Given the description of an element on the screen output the (x, y) to click on. 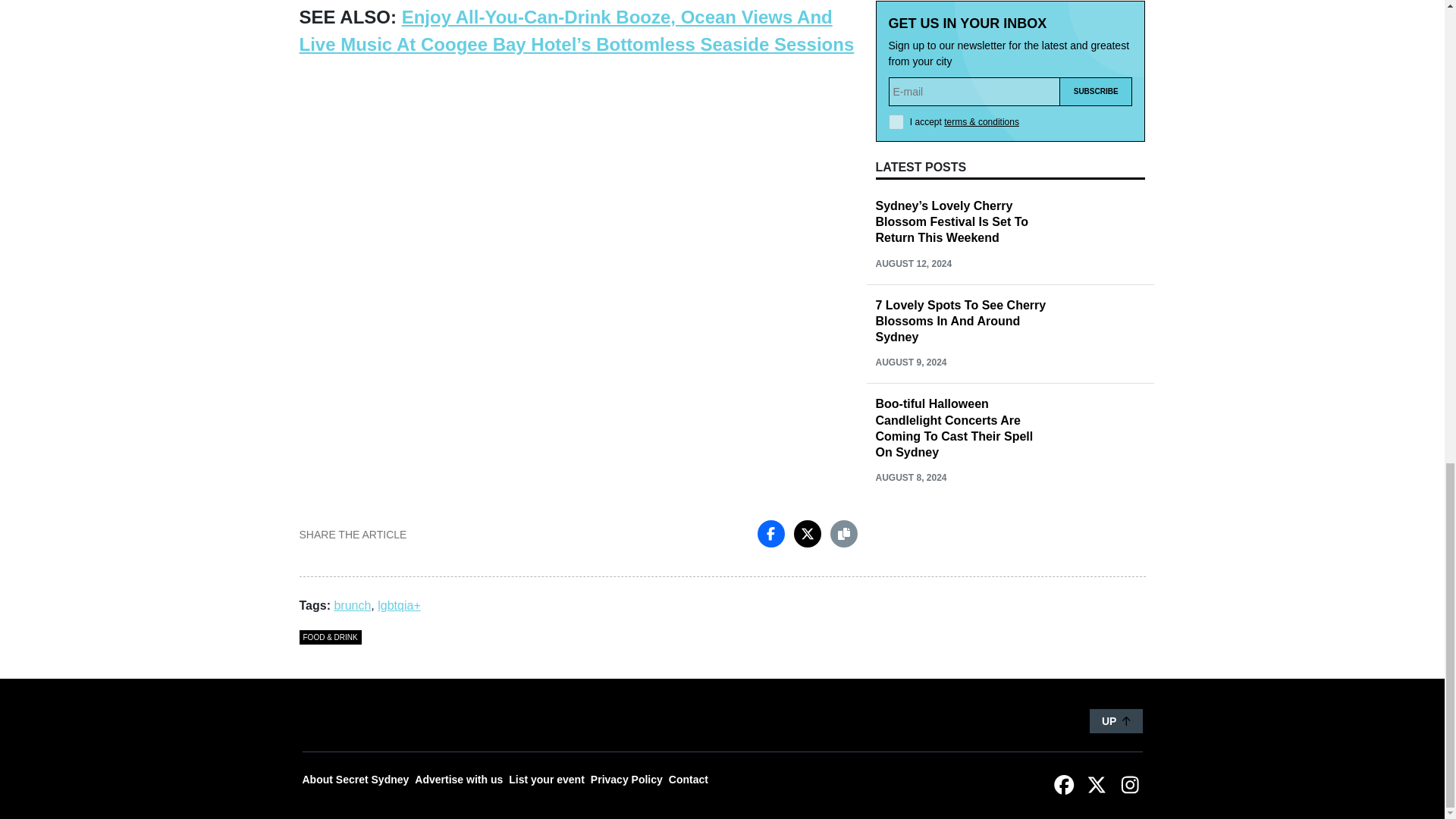
brunch (352, 604)
Subscribe (1095, 91)
AUGUST 12, 2024 (913, 263)
Subscribe (1095, 91)
AUGUST 8, 2024 (910, 477)
AUGUST 9, 2024 (910, 362)
1 (896, 121)
7 Lovely Spots To See Cherry Blossoms In And Around Sydney (960, 320)
